Given the description of an element on the screen output the (x, y) to click on. 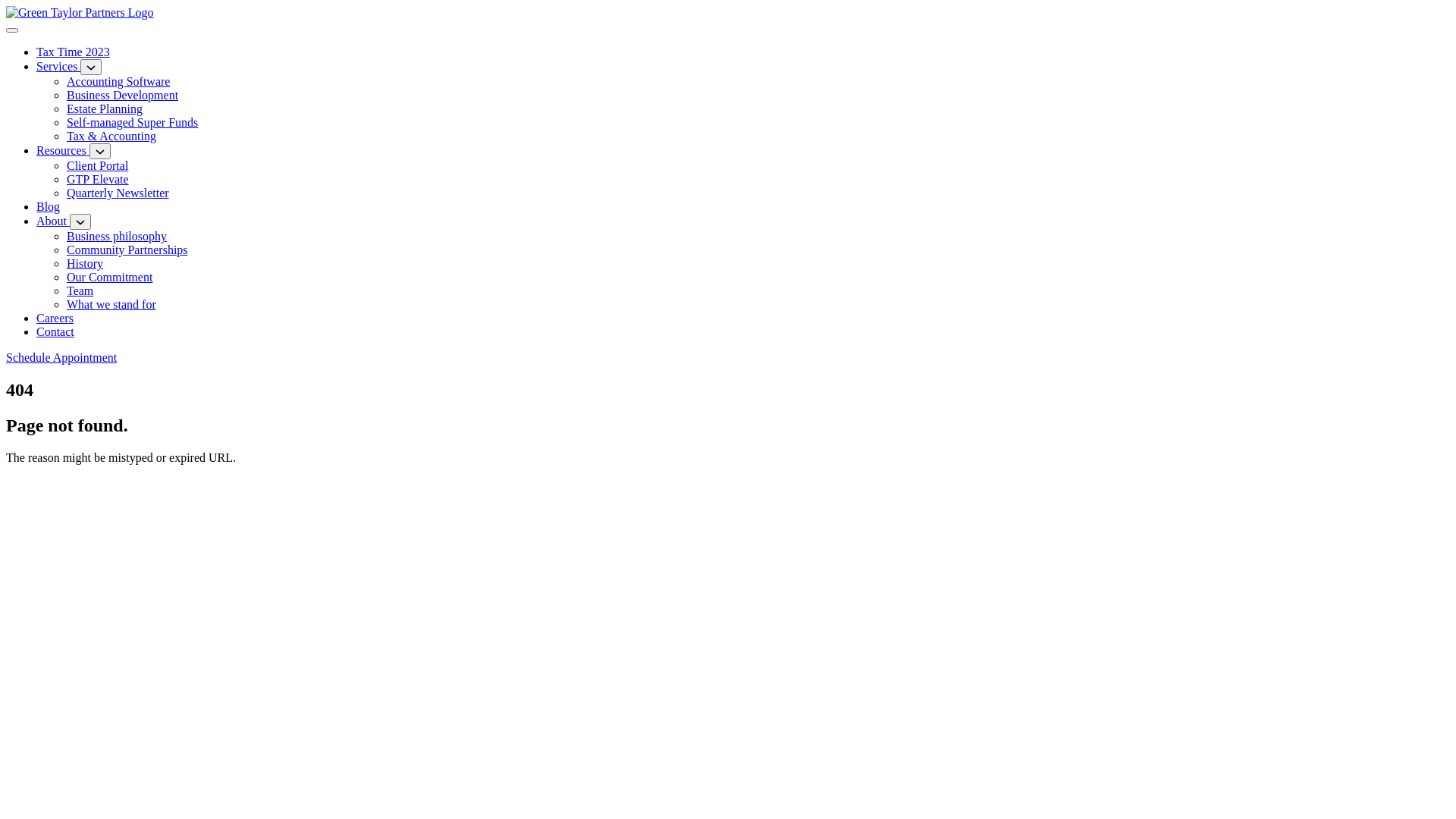
Skip to content Element type: text (5, 5)
Tax & Accounting Element type: text (111, 135)
Estate Planning Element type: text (104, 108)
Community Partnerships Element type: text (127, 249)
Client Portal Element type: text (97, 165)
Our Commitment Element type: text (109, 276)
About Element type: text (52, 220)
GTP Elevate Element type: text (97, 178)
What we stand for Element type: text (111, 304)
Schedule Appointment Element type: text (61, 357)
Quarterly Newsletter Element type: text (117, 192)
Contact Element type: text (55, 331)
Business philosophy Element type: text (116, 235)
Team Element type: text (79, 290)
Self-managed Super Funds Element type: text (131, 122)
Accounting Software Element type: text (117, 81)
Tax Time 2023 Element type: text (72, 51)
Blog Element type: text (47, 206)
Resources Element type: text (62, 150)
Green Taylor Partners Element type: text (79, 12)
History Element type: text (84, 263)
Business Development Element type: text (122, 94)
Services Element type: text (58, 65)
Careers Element type: text (54, 317)
